Given the description of an element on the screen output the (x, y) to click on. 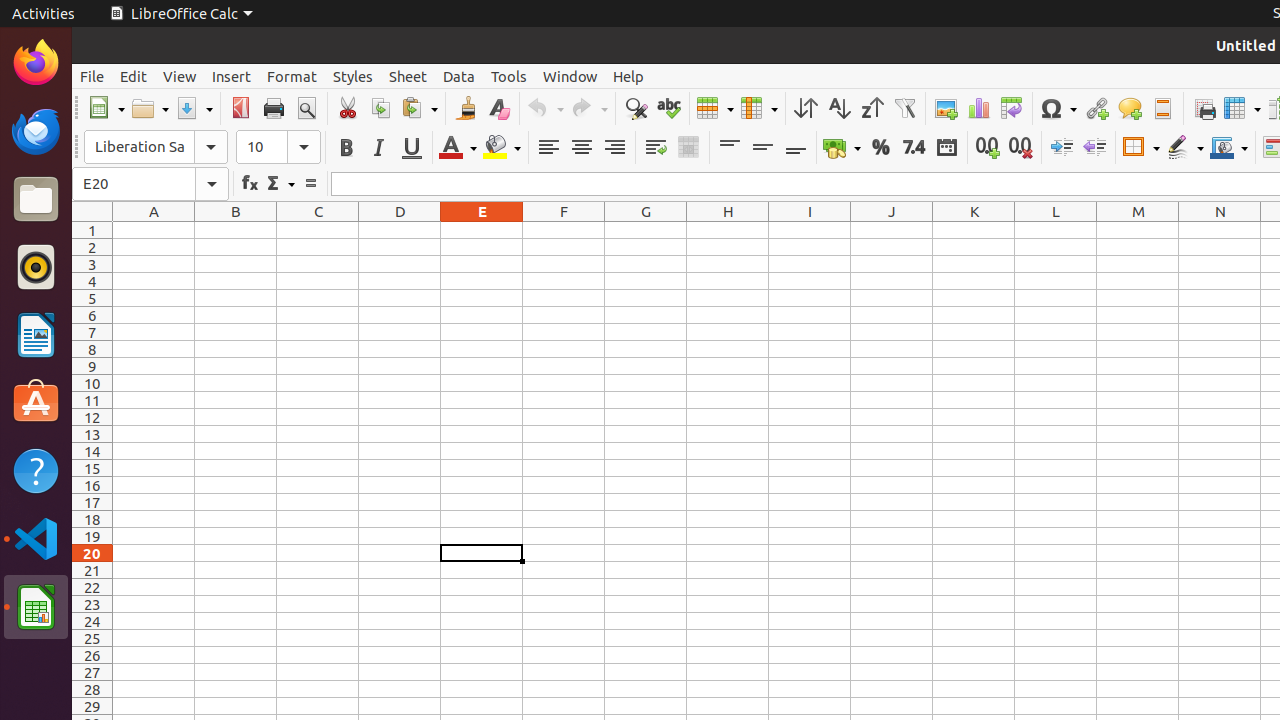
Wrap Text Element type: push-button (655, 147)
M1 Element type: table-cell (1138, 230)
Headers and Footers Element type: push-button (1162, 108)
Border Color Element type: push-button (1229, 147)
Number Element type: push-button (913, 147)
